Given the description of an element on the screen output the (x, y) to click on. 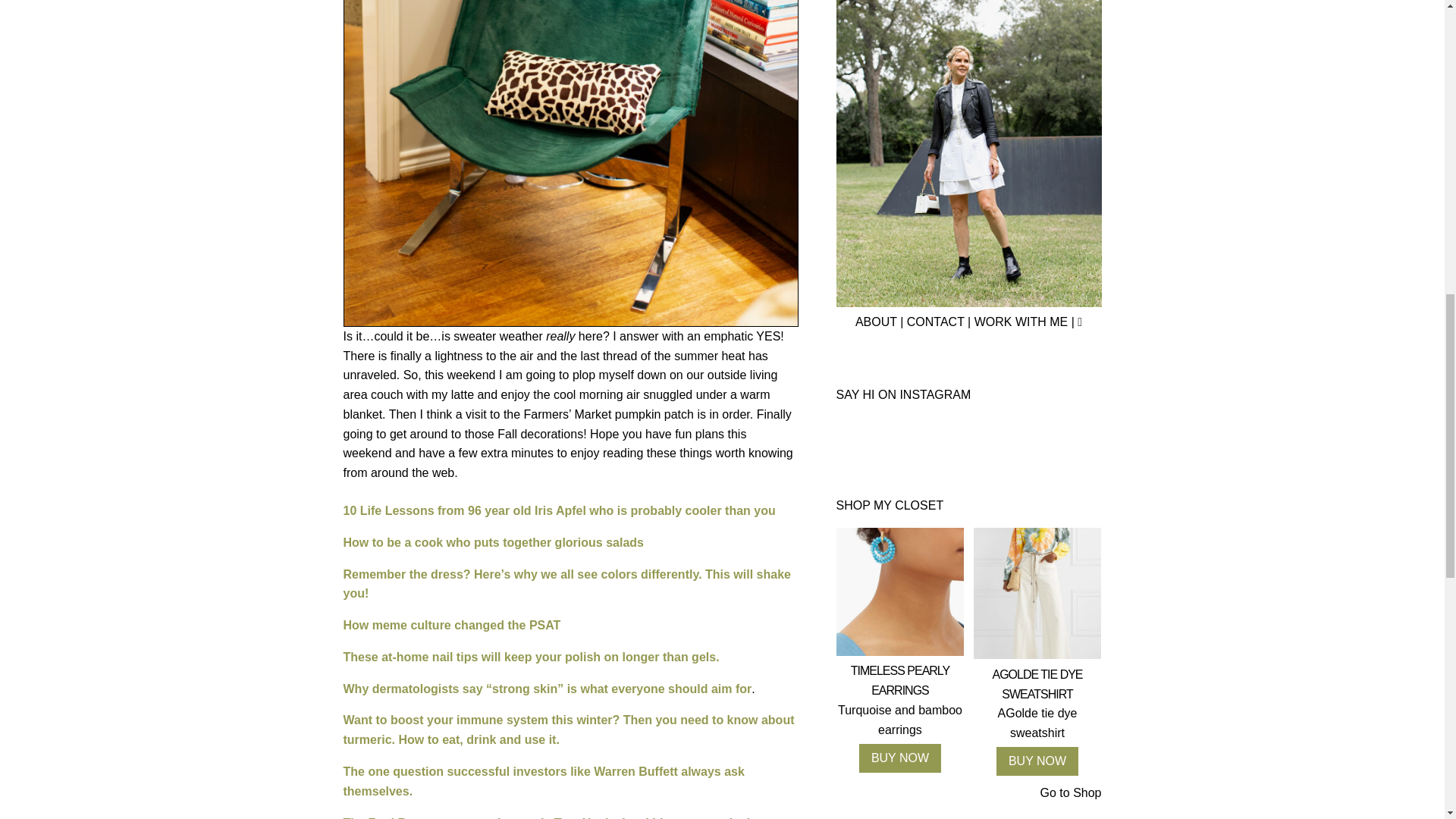
who is probably cooler than you (681, 510)
How meme culture changed the PSAT (451, 625)
ABOUT (876, 321)
WORK WITH ME (1021, 321)
CONTACT (935, 321)
How to be a cook who puts together glorious salads (492, 542)
10 Life Lessons from 96 year old Iris Apfel (463, 510)
